Given the description of an element on the screen output the (x, y) to click on. 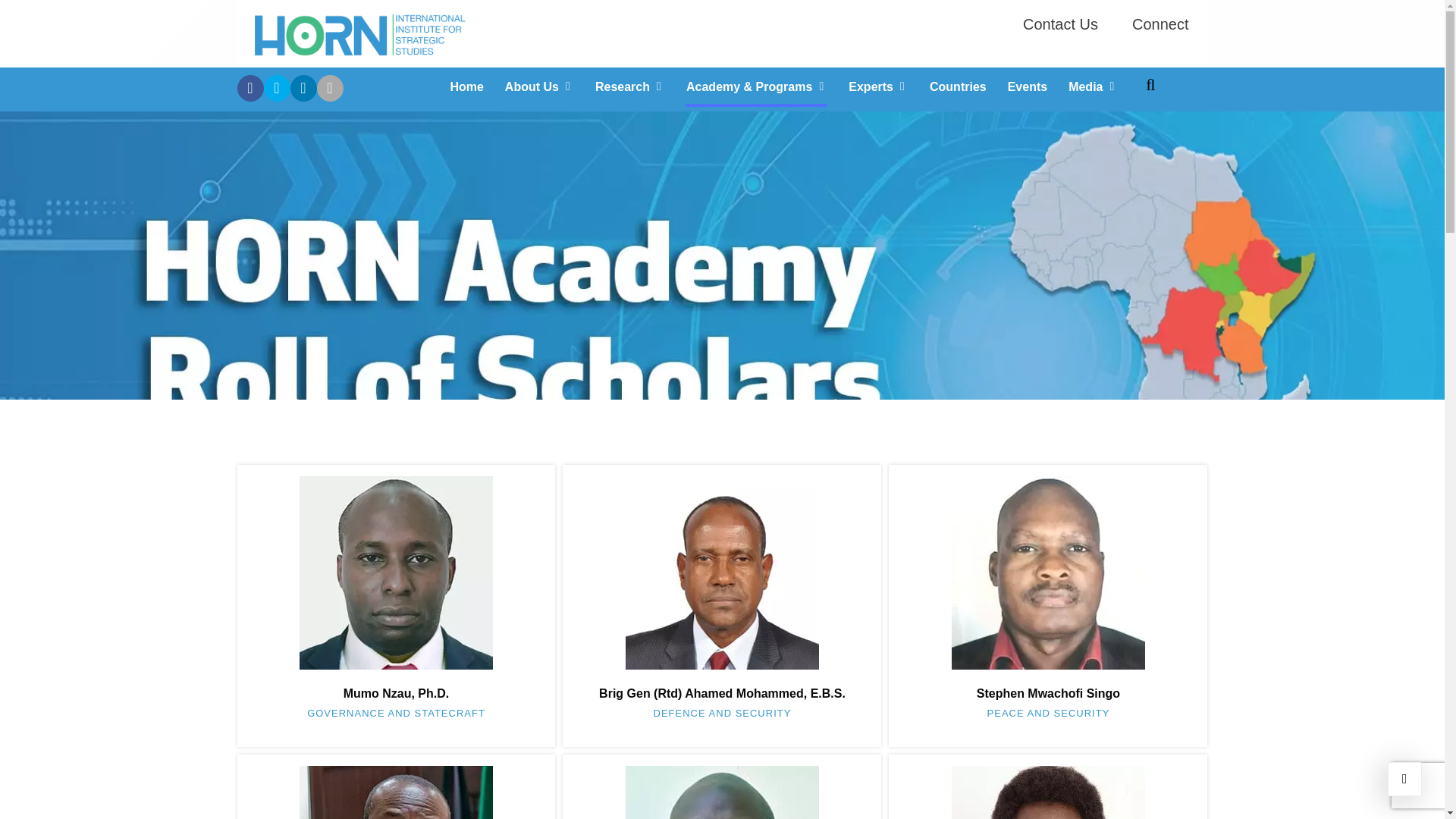
Connect (1158, 22)
About Us (539, 87)
Research (630, 87)
Contact Us (1052, 22)
